Given the description of an element on the screen output the (x, y) to click on. 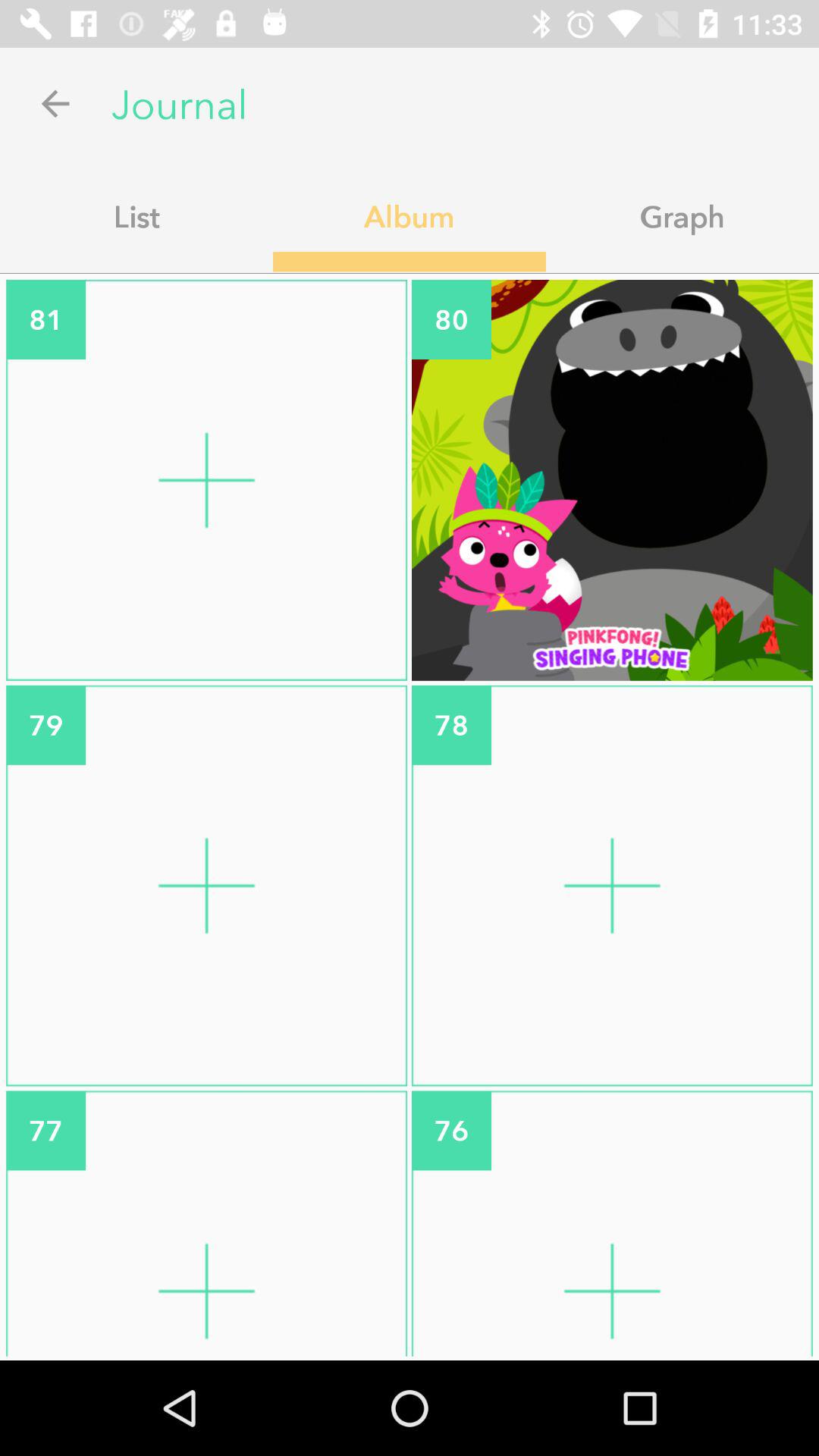
turn on the app next to the list (409, 216)
